Given the description of an element on the screen output the (x, y) to click on. 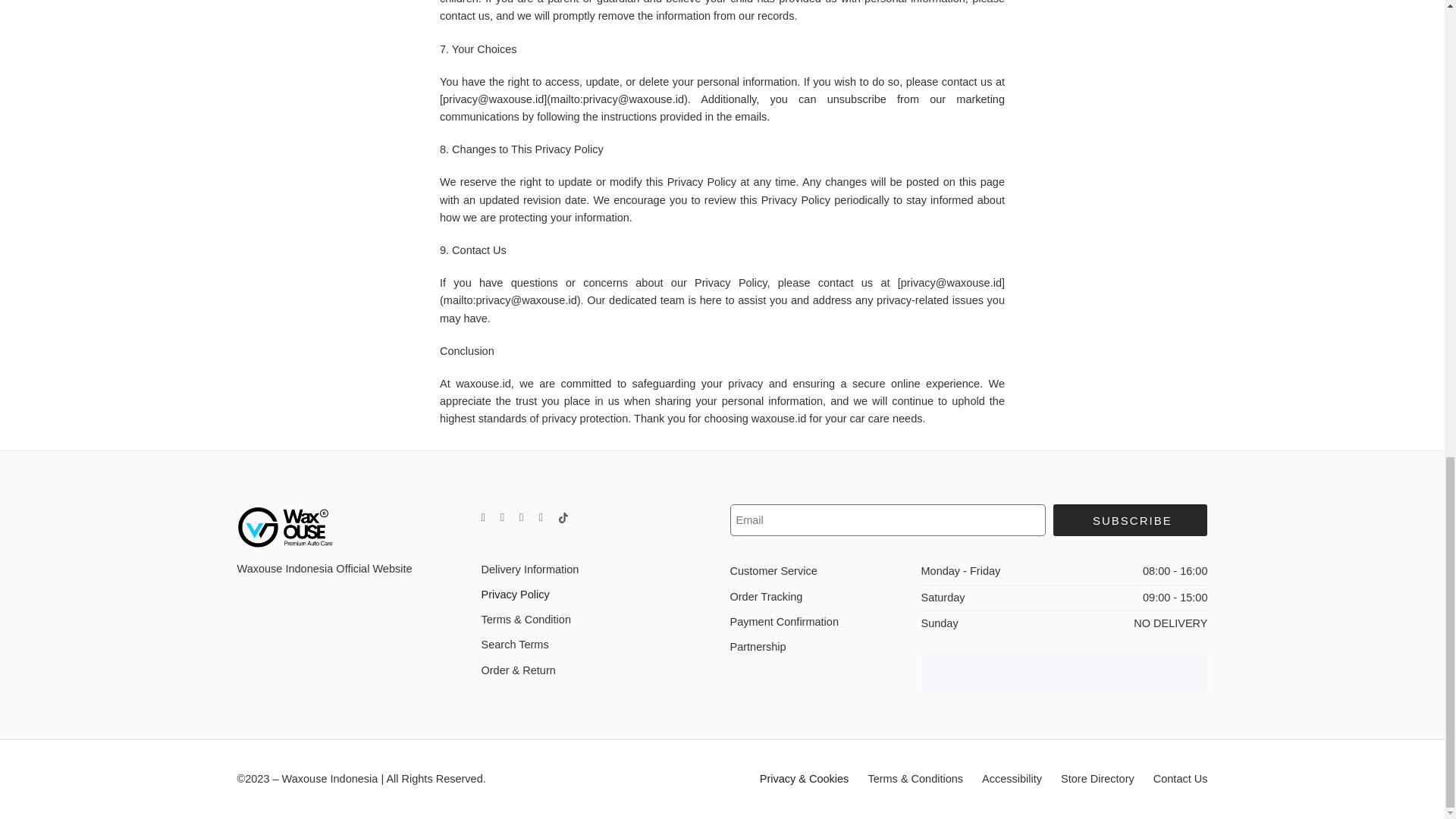
Delivery Information (597, 569)
Privacy Policy (597, 594)
Search Terms (597, 644)
Follow us on Tiktok (563, 517)
